Given the description of an element on the screen output the (x, y) to click on. 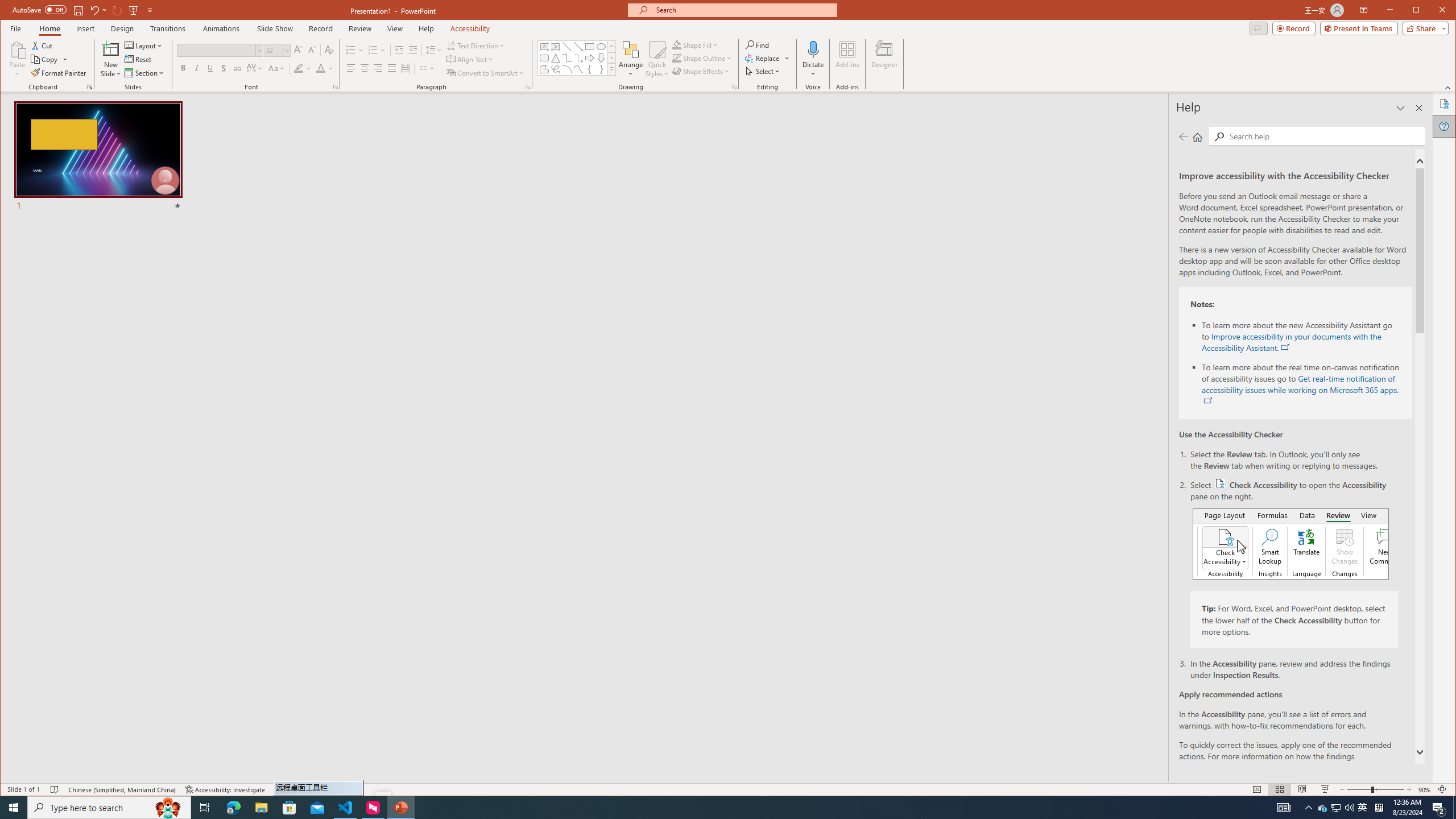
Show desktop (1362, 807)
Arrow: Right (1454, 807)
Columns (589, 57)
Arrange (426, 68)
Shapes (631, 59)
Notification Chevron (611, 69)
User Promoted Notification Area (1308, 807)
Maximize (1336, 807)
Office Clipboard... (1432, 11)
Row Down (89, 86)
